Given the description of an element on the screen output the (x, y) to click on. 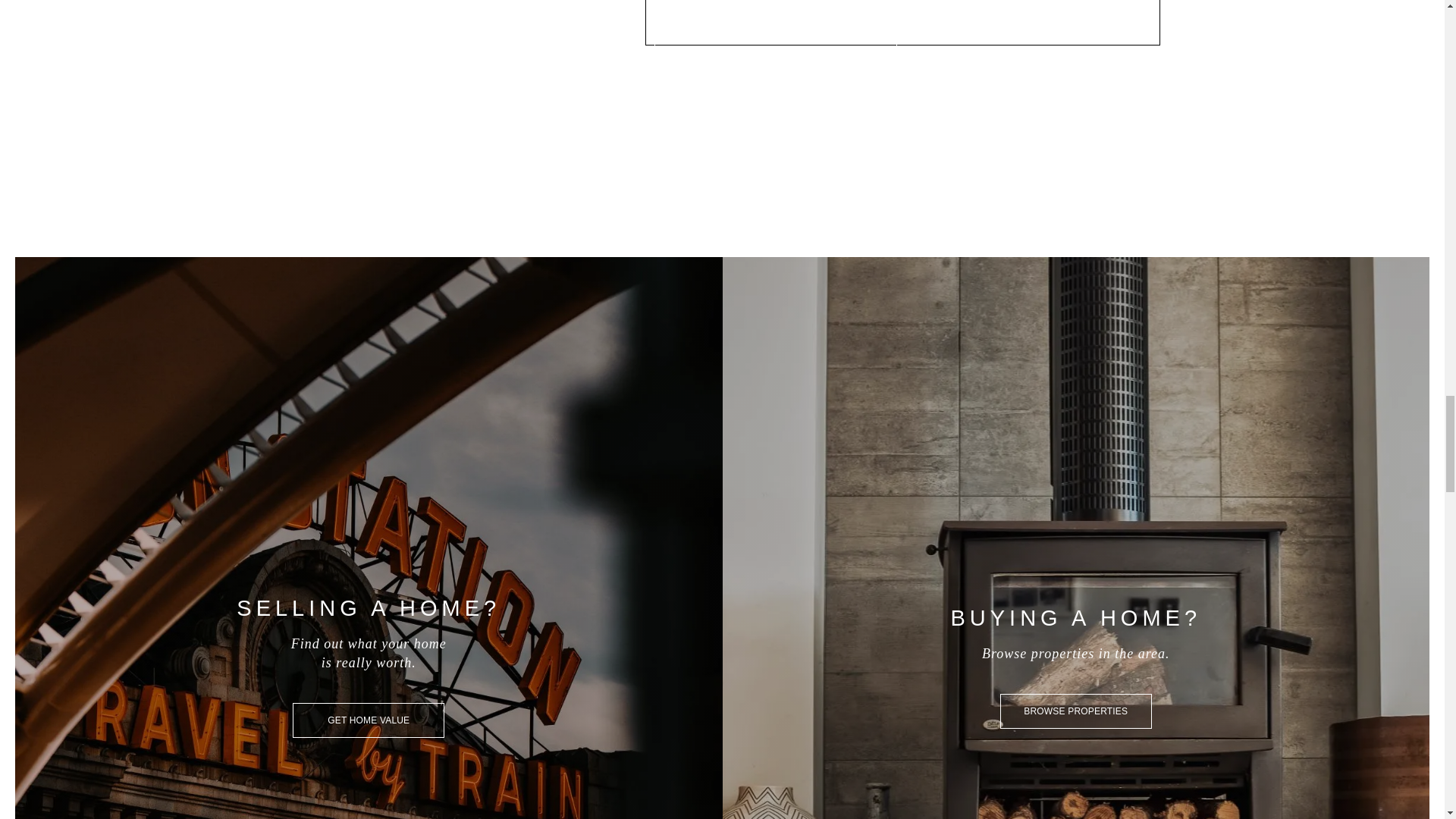
GET HOME VALUE (368, 719)
BROWSE PROPERTIES (1075, 710)
